Given the description of an element on the screen output the (x, y) to click on. 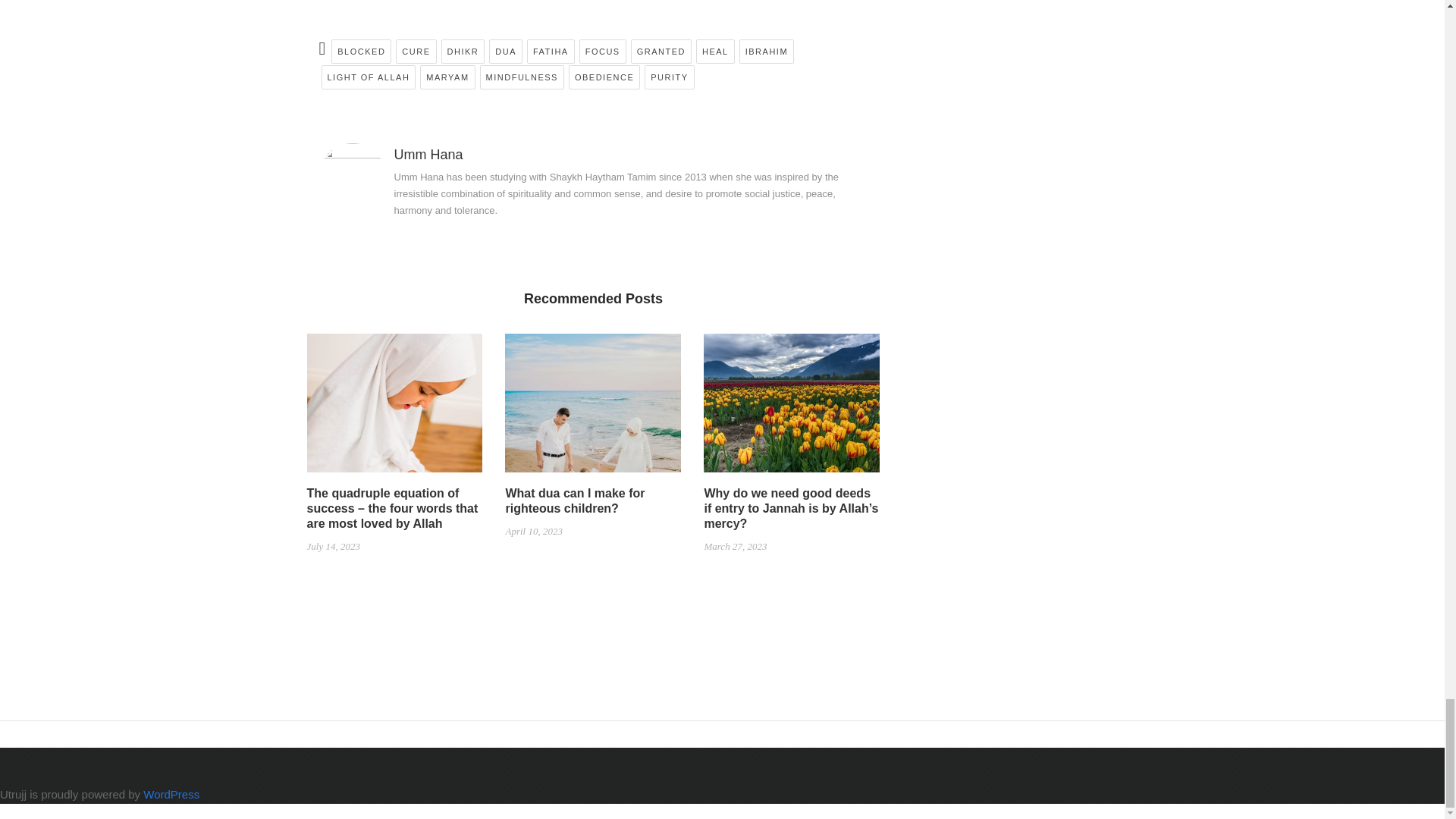
Posts by Umm Hana (428, 154)
What dua can I make for righteous children? (593, 408)
